Given the description of an element on the screen output the (x, y) to click on. 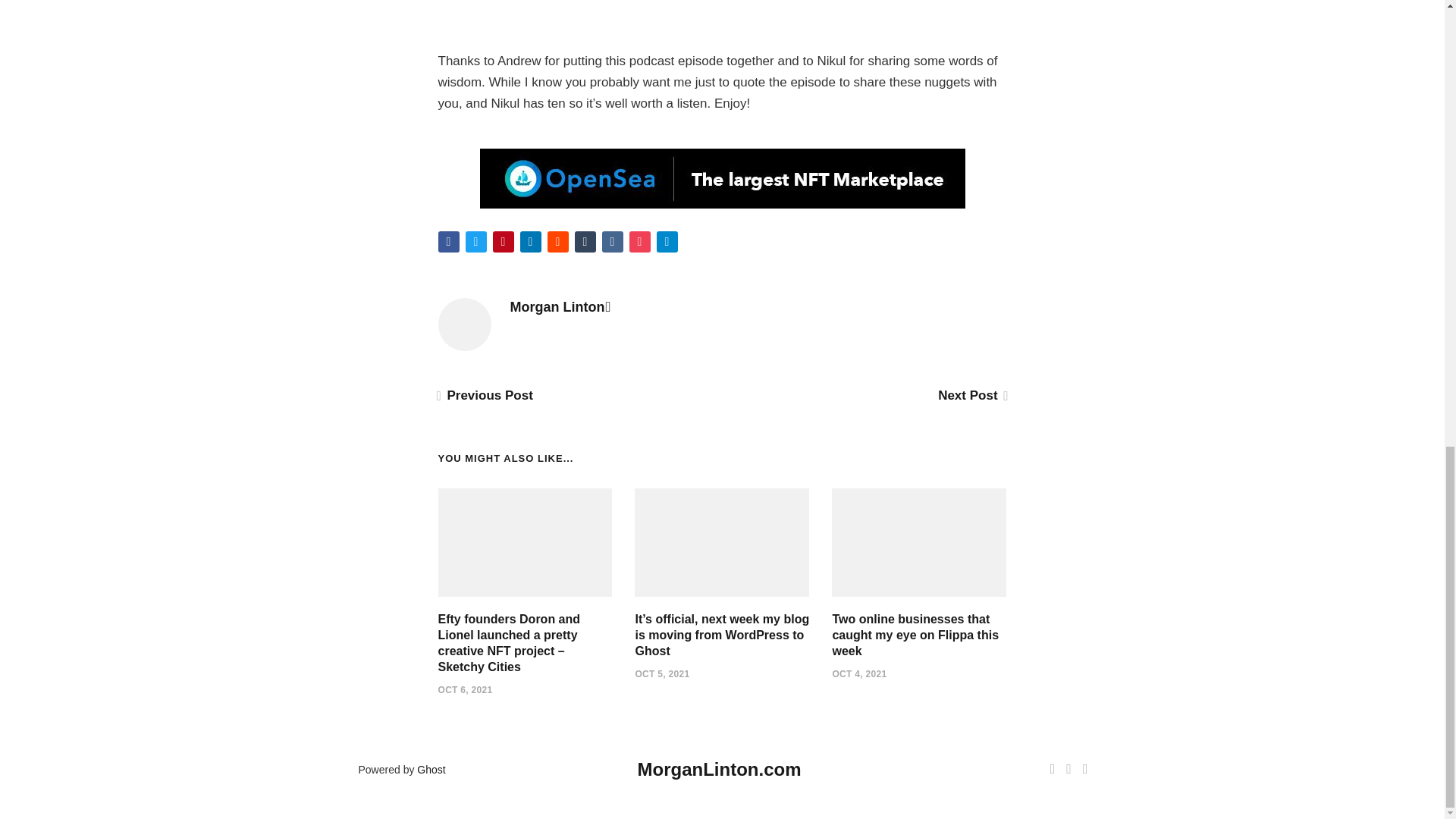
Next Post (971, 395)
Previous Post (485, 395)
